Given the description of an element on the screen output the (x, y) to click on. 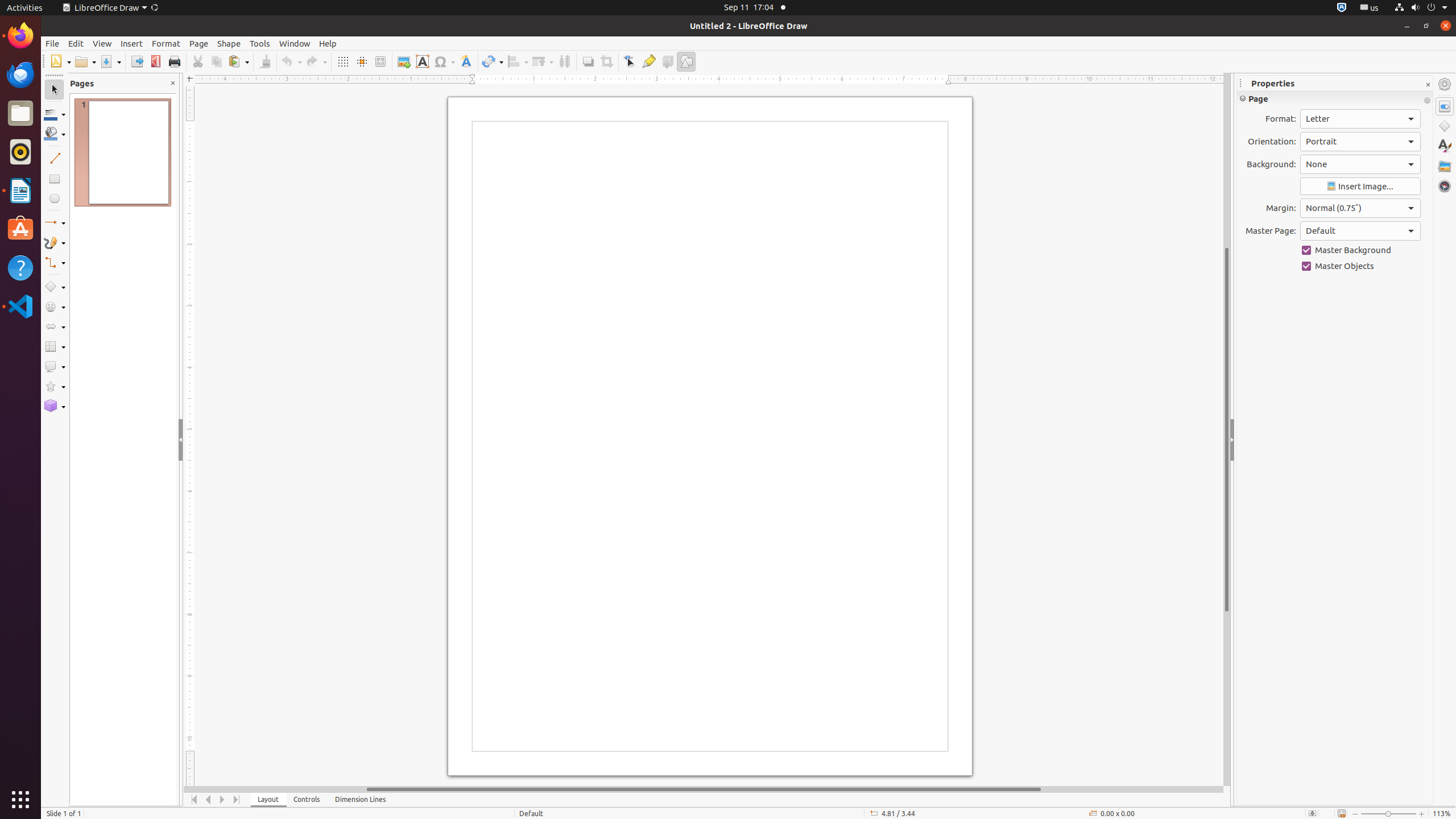
Master Objects Element type: check-box (1360, 265)
Layout Element type: page-tab (268, 799)
Window Element type: menu (294, 43)
Undo Element type: push-button (290, 61)
Edit Element type: menu (75, 43)
